Given the description of an element on the screen output the (x, y) to click on. 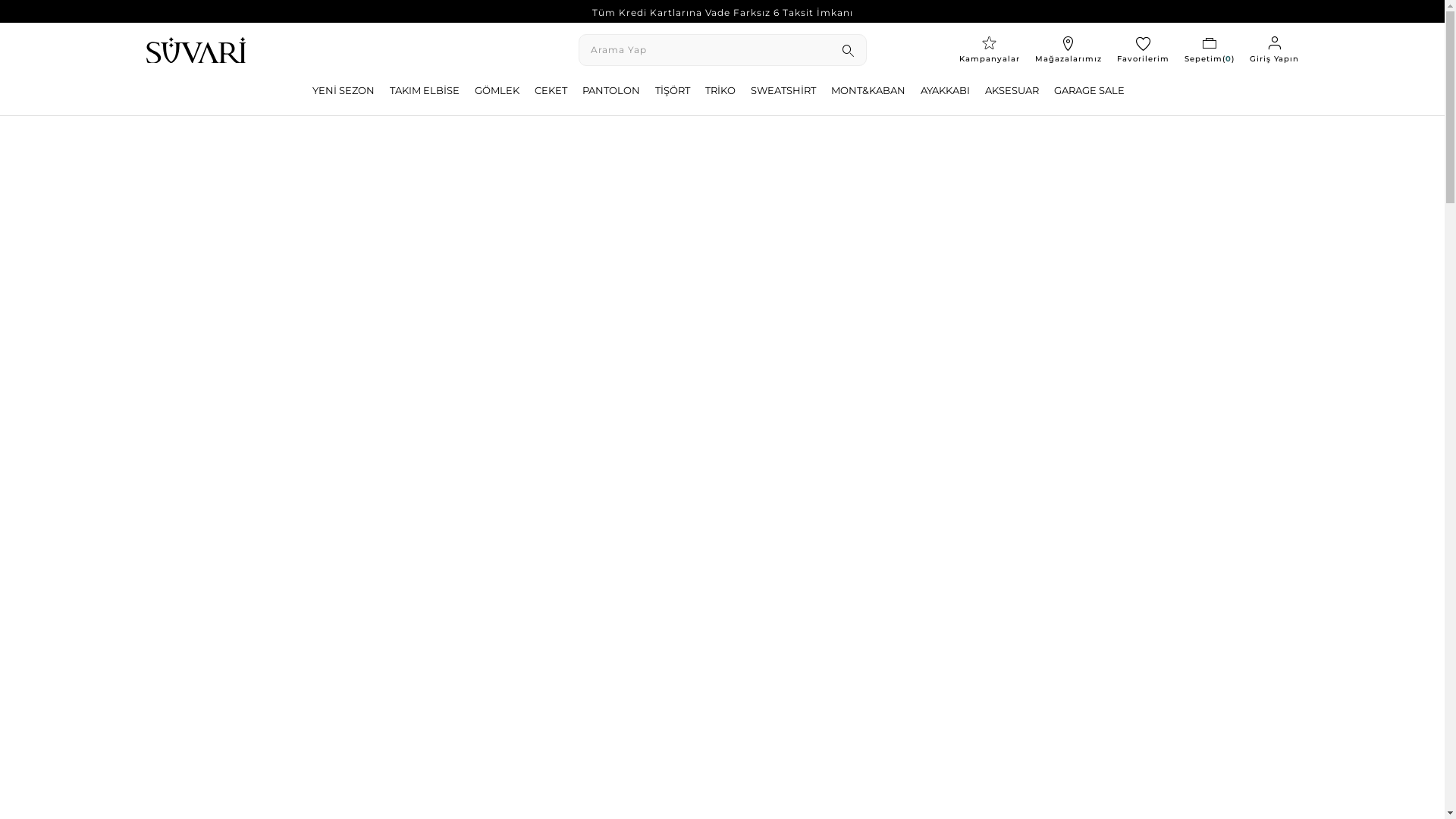
PANTOLON Element type: text (611, 90)
GARAGE SALE Element type: text (1089, 90)
Kampanyalar Element type: text (988, 49)
Sepetim(0) Element type: text (1209, 49)
AKSESUAR Element type: text (1011, 90)
Favorilerim Element type: text (1142, 49)
AYAKKABI Element type: text (944, 90)
CEKET Element type: text (550, 90)
MONT&KABAN Element type: text (868, 90)
